Given the description of an element on the screen output the (x, y) to click on. 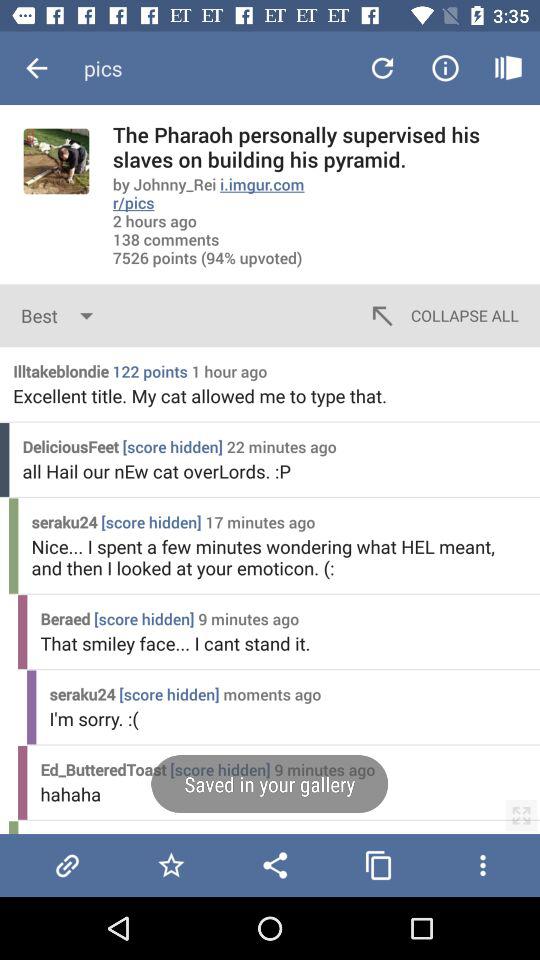
turn off icon next to the best (442, 315)
